Given the description of an element on the screen output the (x, y) to click on. 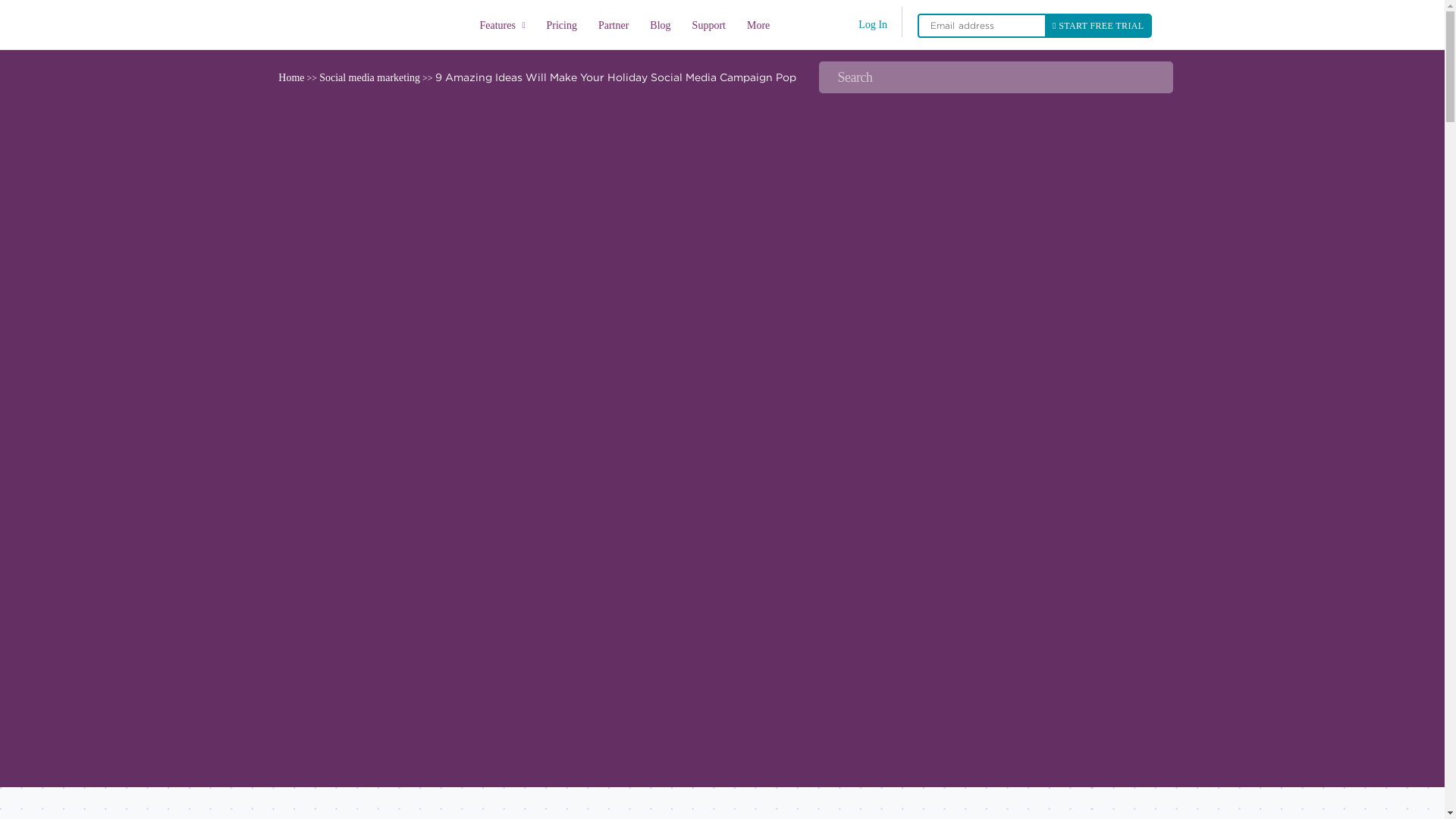
START FREE TRIAL (1098, 25)
Features (501, 24)
Home (290, 77)
Nav Sign Up Free (1098, 25)
Log In (872, 24)
Blog (660, 27)
More (758, 27)
Social media marketing (369, 77)
Support (708, 27)
Home (372, 24)
